Given the description of an element on the screen output the (x, y) to click on. 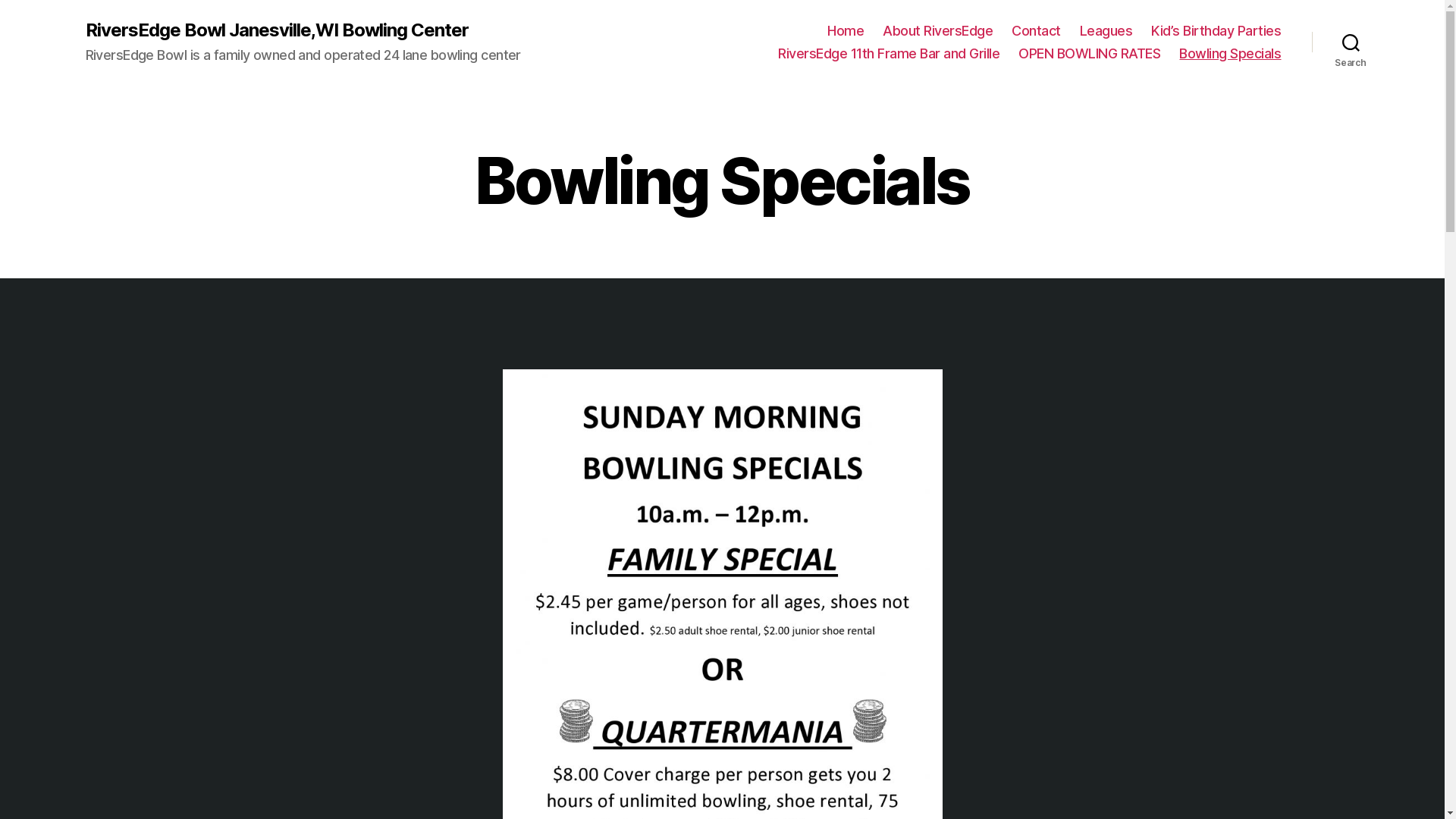
OPEN BOWLING RATES Element type: text (1089, 53)
RiversEdge 11th Frame Bar and Grille Element type: text (888, 53)
Search Element type: text (1350, 42)
Leagues Element type: text (1105, 30)
Home Element type: text (845, 30)
About RiversEdge Element type: text (937, 30)
Bowling Specials Element type: text (1229, 53)
RiversEdge Bowl Janesville,WI Bowling Center Element type: text (275, 30)
Contact Element type: text (1035, 30)
